Given the description of an element on the screen output the (x, y) to click on. 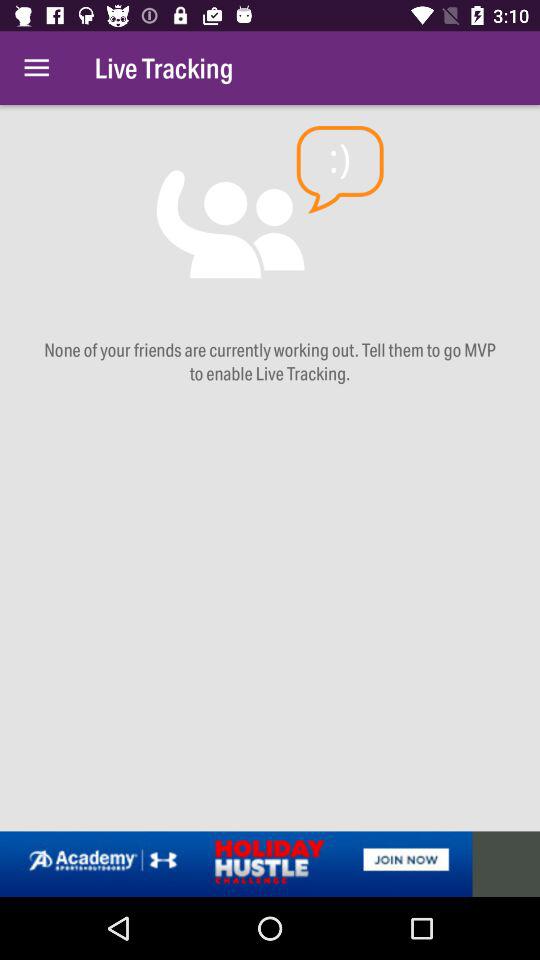
go to advertisement (270, 864)
